Given the description of an element on the screen output the (x, y) to click on. 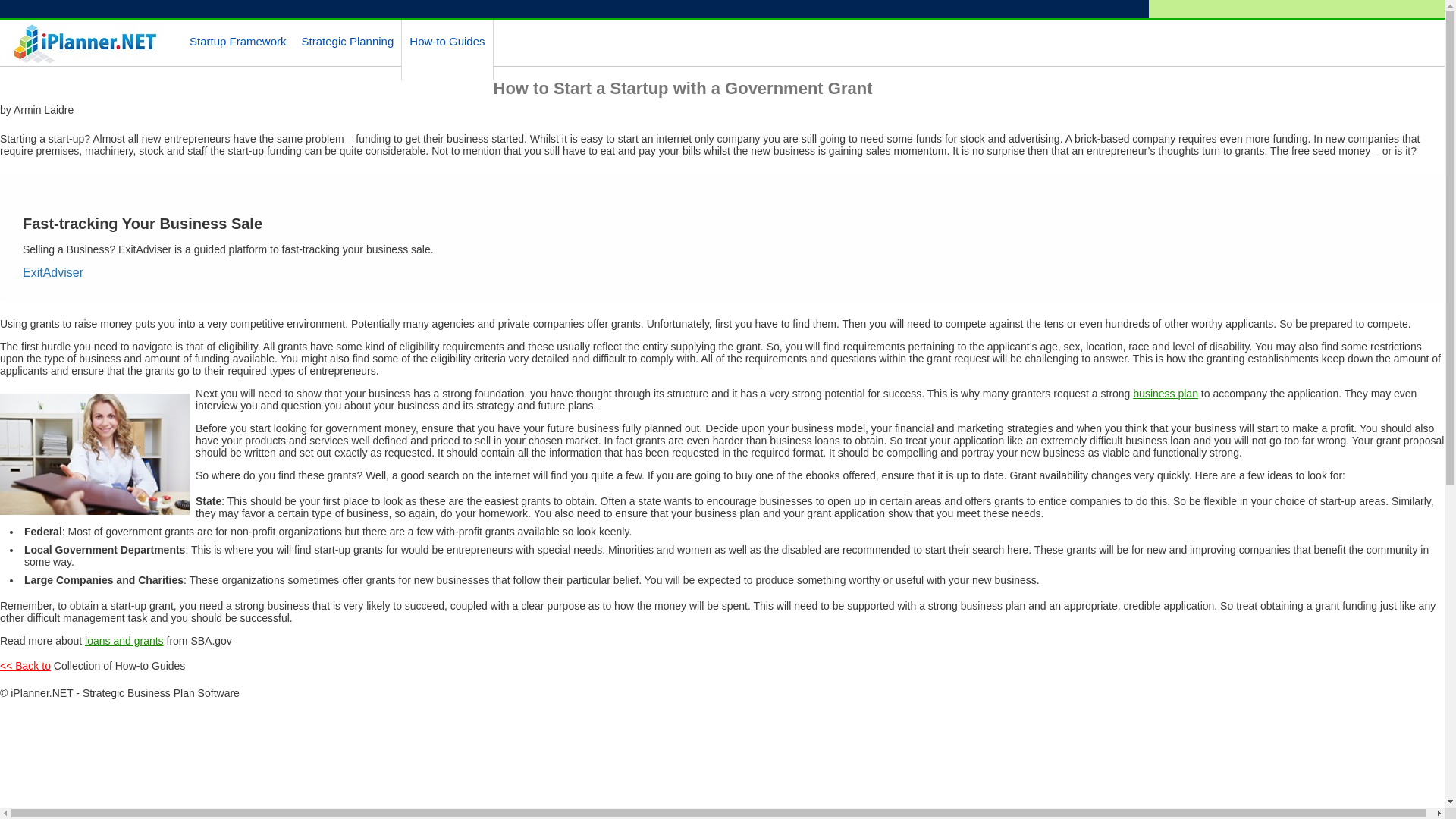
How-to guides, articles (446, 41)
Articles about entrepreneurship and entrepreneurs (25, 665)
business plan (1165, 393)
How-to Guides (446, 41)
Strategy Designer Tool (347, 41)
loans and grants (123, 640)
About snall business grants (123, 640)
Startup Framework (237, 41)
ExitAdviser (52, 272)
Step aboard and start selling your business on ExitAdviser (52, 272)
